Given the description of an element on the screen output the (x, y) to click on. 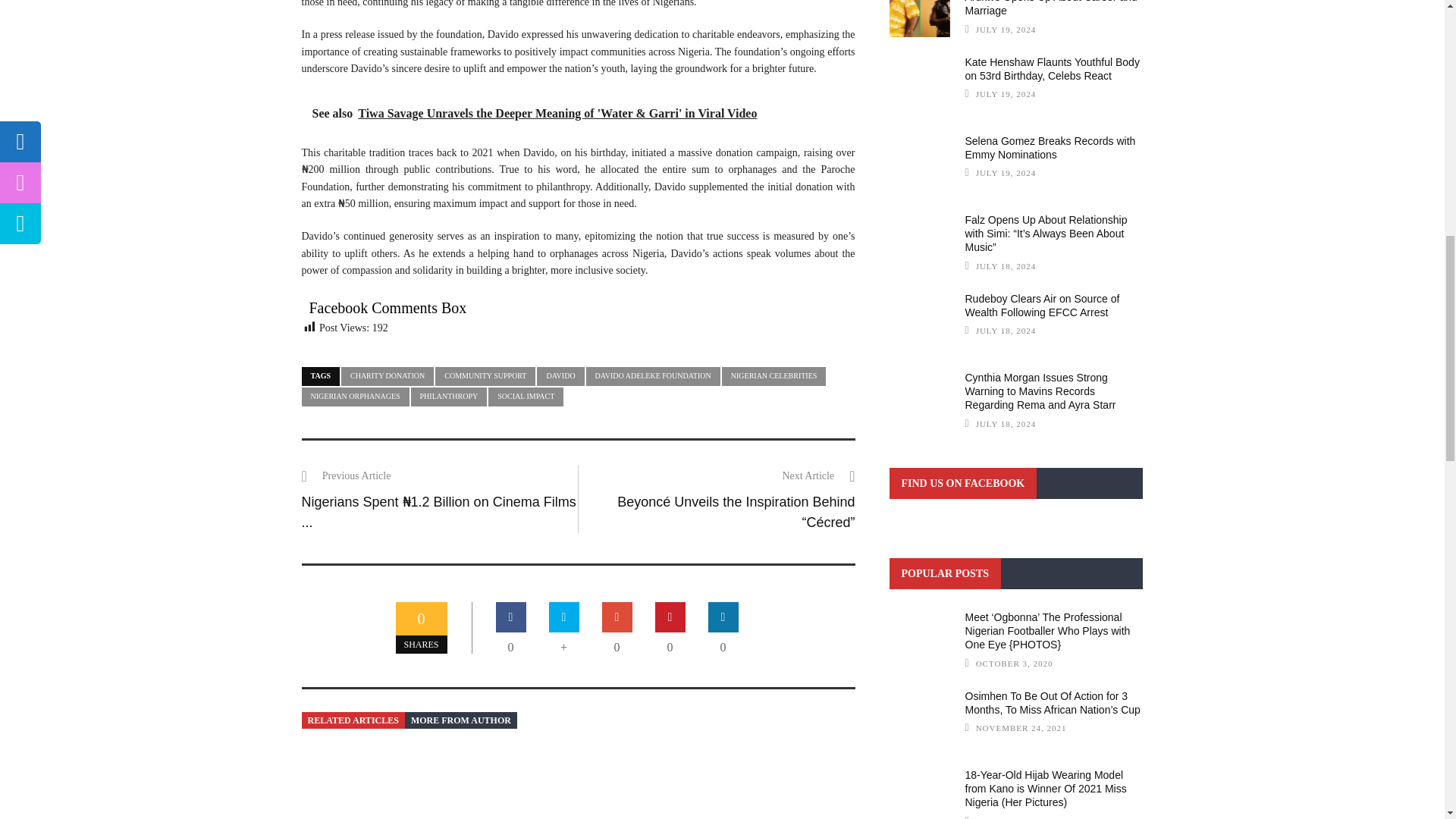
CHARITY DONATION (386, 375)
SOCIAL IMPACT (525, 396)
NIGERIAN CELEBRITIES (774, 375)
View all posts tagged Davido Adeleke Foundation (653, 375)
NIGERIAN ORPHANAGES (355, 396)
View all posts tagged Nigerian celebrities (774, 375)
View all posts tagged Charity donation (386, 375)
DAVIDO ADELEKE FOUNDATION (653, 375)
View all posts tagged Social impact (525, 396)
PHILANTHROPY (448, 396)
DAVIDO (560, 375)
View all posts tagged Community support (485, 375)
View all posts tagged Nigerian orphanages (355, 396)
View all posts tagged philanthropy (448, 396)
View all posts tagged Davido (560, 375)
